Given the description of an element on the screen output the (x, y) to click on. 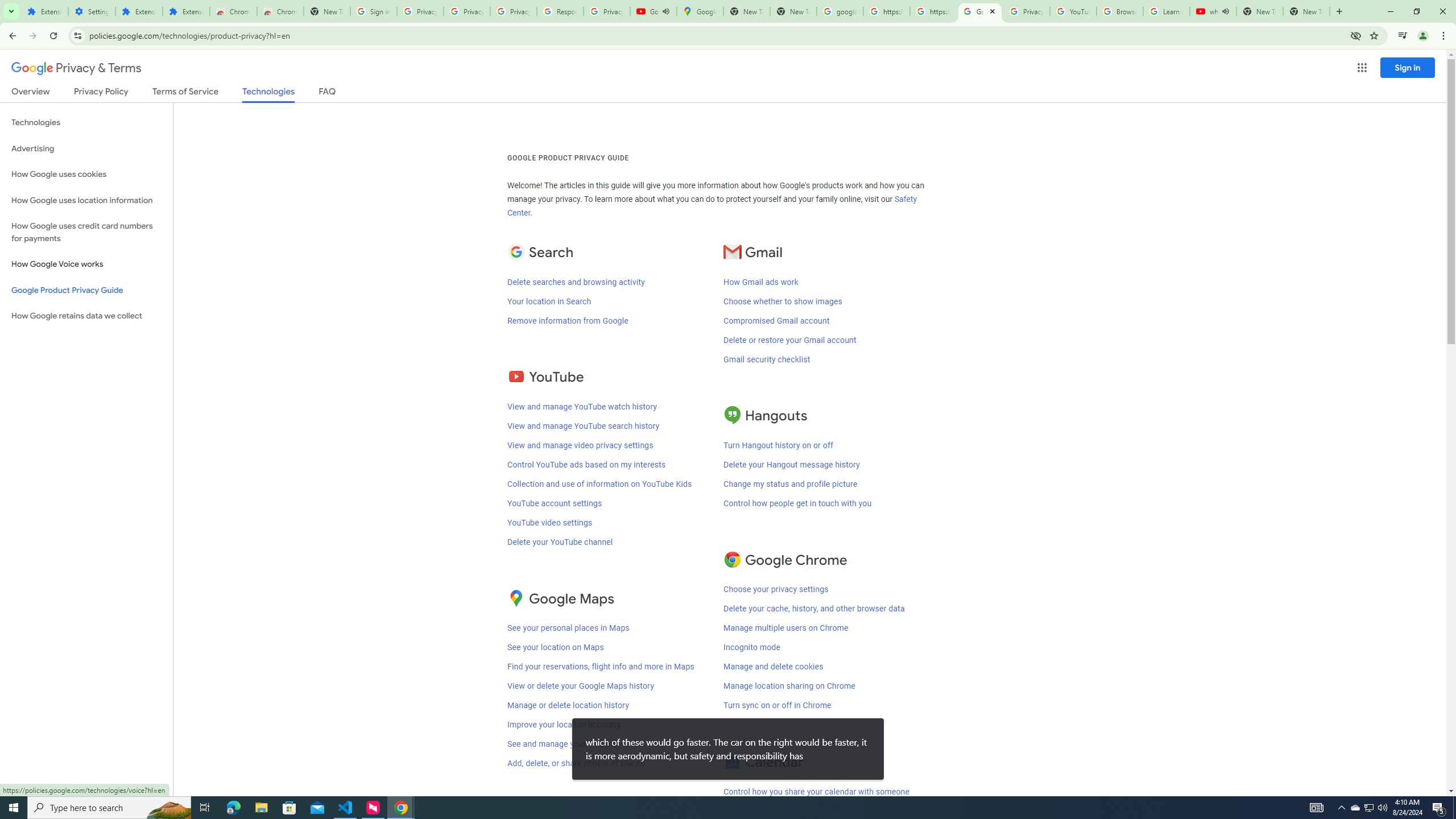
Advertising (86, 148)
How Google uses location information (86, 199)
Manage multiple users on Chrome (785, 628)
How Google uses credit card numbers for payments (86, 232)
Extensions (186, 11)
New Tab (1306, 11)
Remove information from Google (567, 320)
Chrome Web Store - Themes (279, 11)
Your location in Search (548, 301)
Control how you share your calendar with someone (816, 791)
How Google retains data we collect (86, 316)
